Given the description of an element on the screen output the (x, y) to click on. 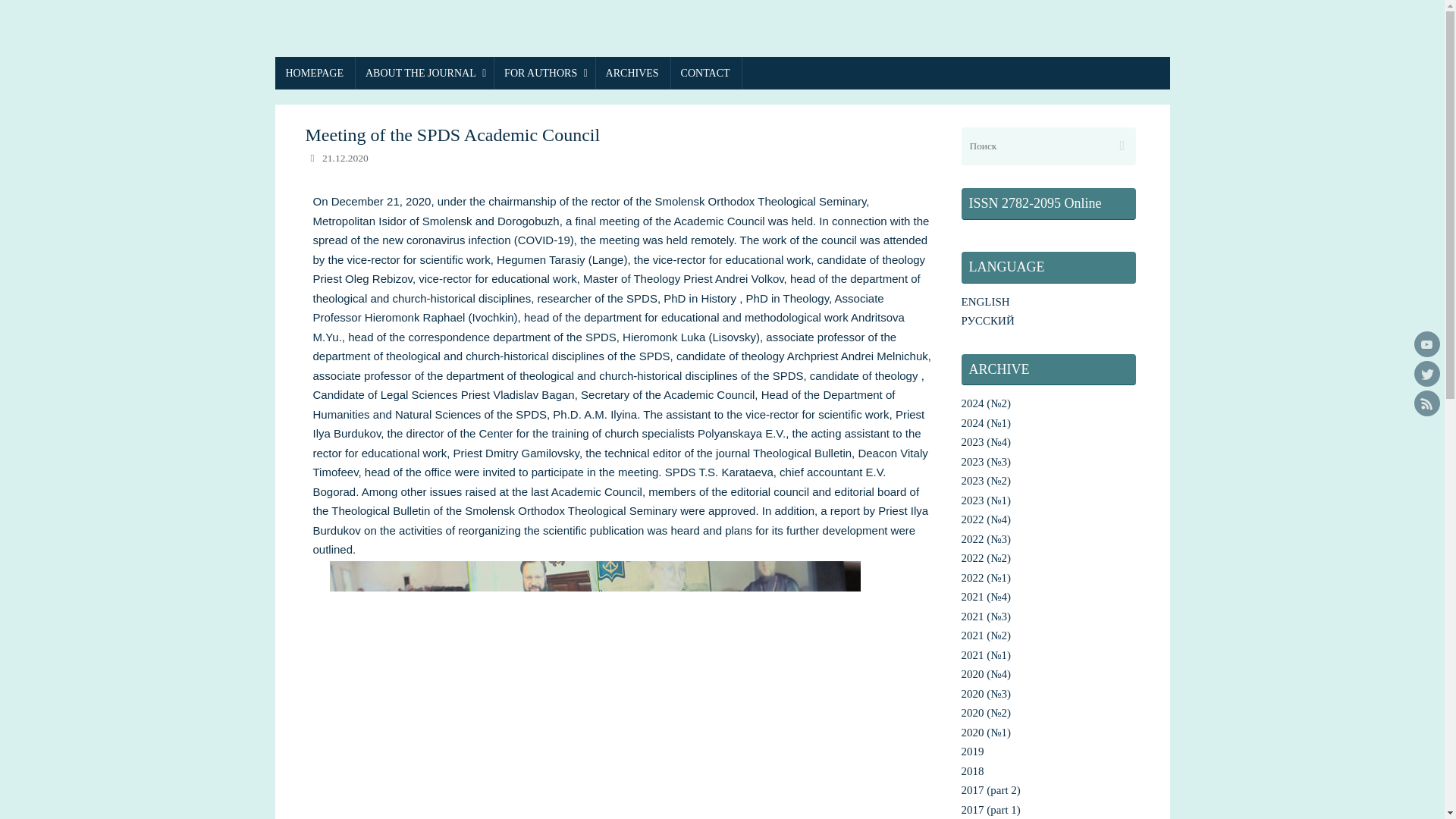
HOMEPAGE (315, 72)
ENGLISH (985, 301)
FOR AUTHORS (543, 72)
CONTACT (705, 72)
YouTube (1426, 344)
21.12.2020 (344, 157)
Twitter (1426, 373)
ABOUT THE JOURNAL (424, 72)
ARCHIVES (632, 72)
RSS (1426, 403)
